Given the description of an element on the screen output the (x, y) to click on. 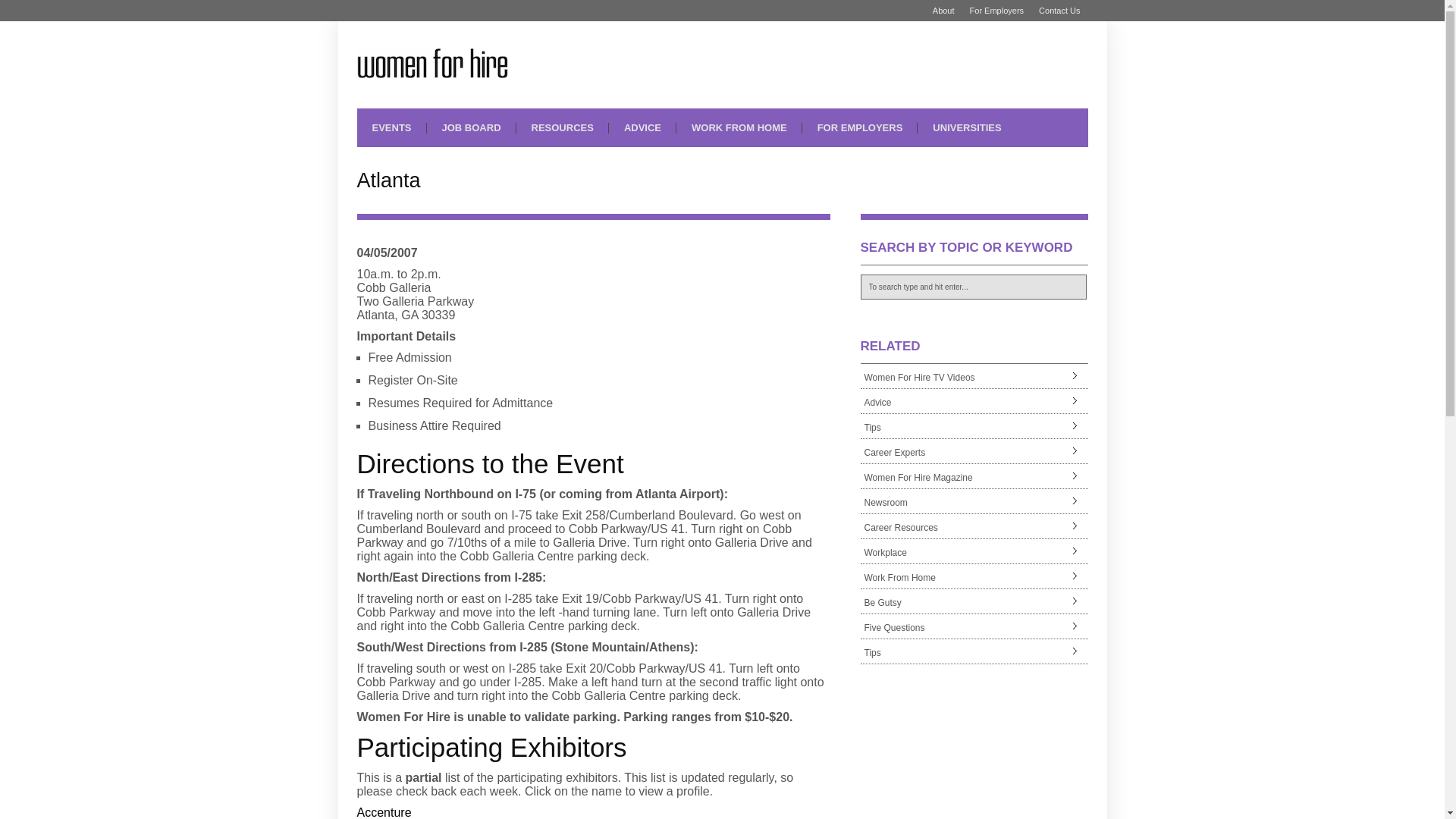
JOB BOARD (471, 127)
For Employers (997, 10)
About (943, 10)
To search type and hit enter... (973, 286)
RESOURCES (562, 127)
ADVICE (642, 127)
WORK FROM HOME (739, 127)
EVENTS (391, 127)
Contact Us (1058, 10)
